Given the description of an element on the screen output the (x, y) to click on. 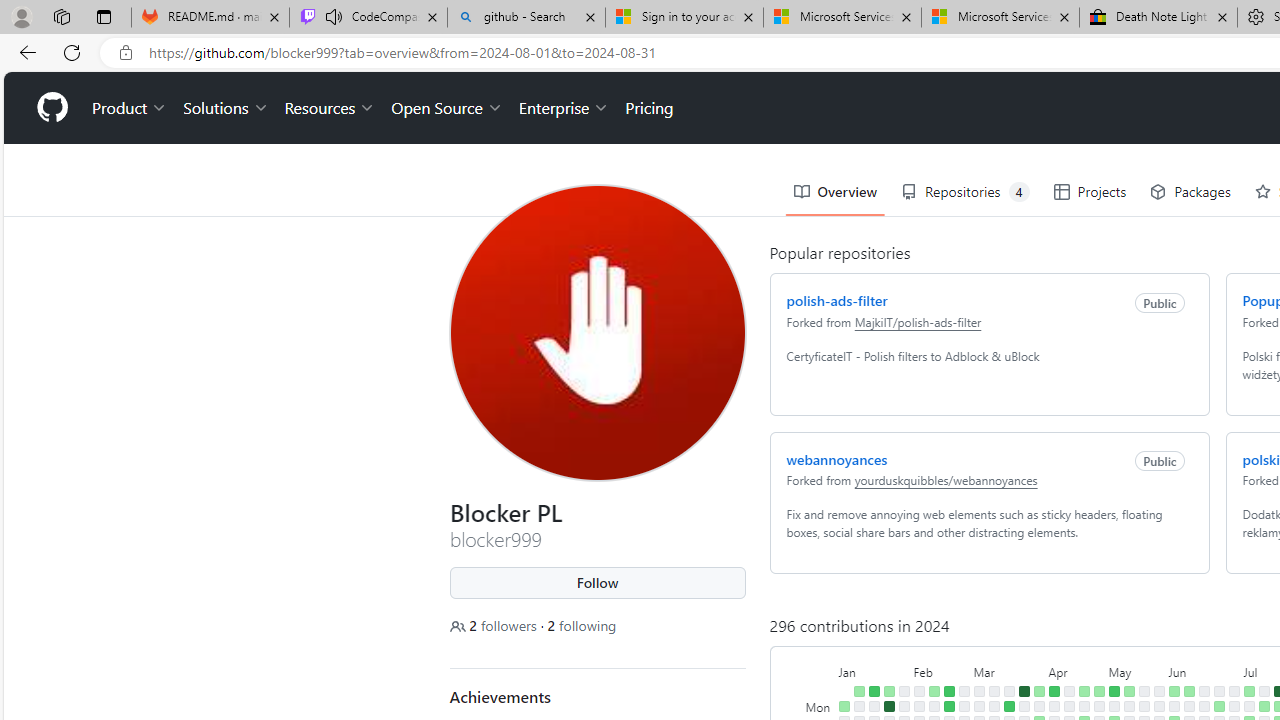
Projects (1089, 192)
April (1076, 670)
Solutions (225, 107)
No contributions on March 4th. (978, 706)
2 contributions on April 21st. (1083, 691)
No contributions on January 29th. (904, 706)
No contributions on April 15th. (1068, 706)
Enterprise (563, 107)
No contributions on March 11th. (993, 706)
1 contribution on June 24th. (1218, 706)
March (1008, 670)
No contributions on April 8th. (1053, 706)
No contributions on May 20th. (1143, 706)
Pricing (649, 107)
